Given the description of an element on the screen output the (x, y) to click on. 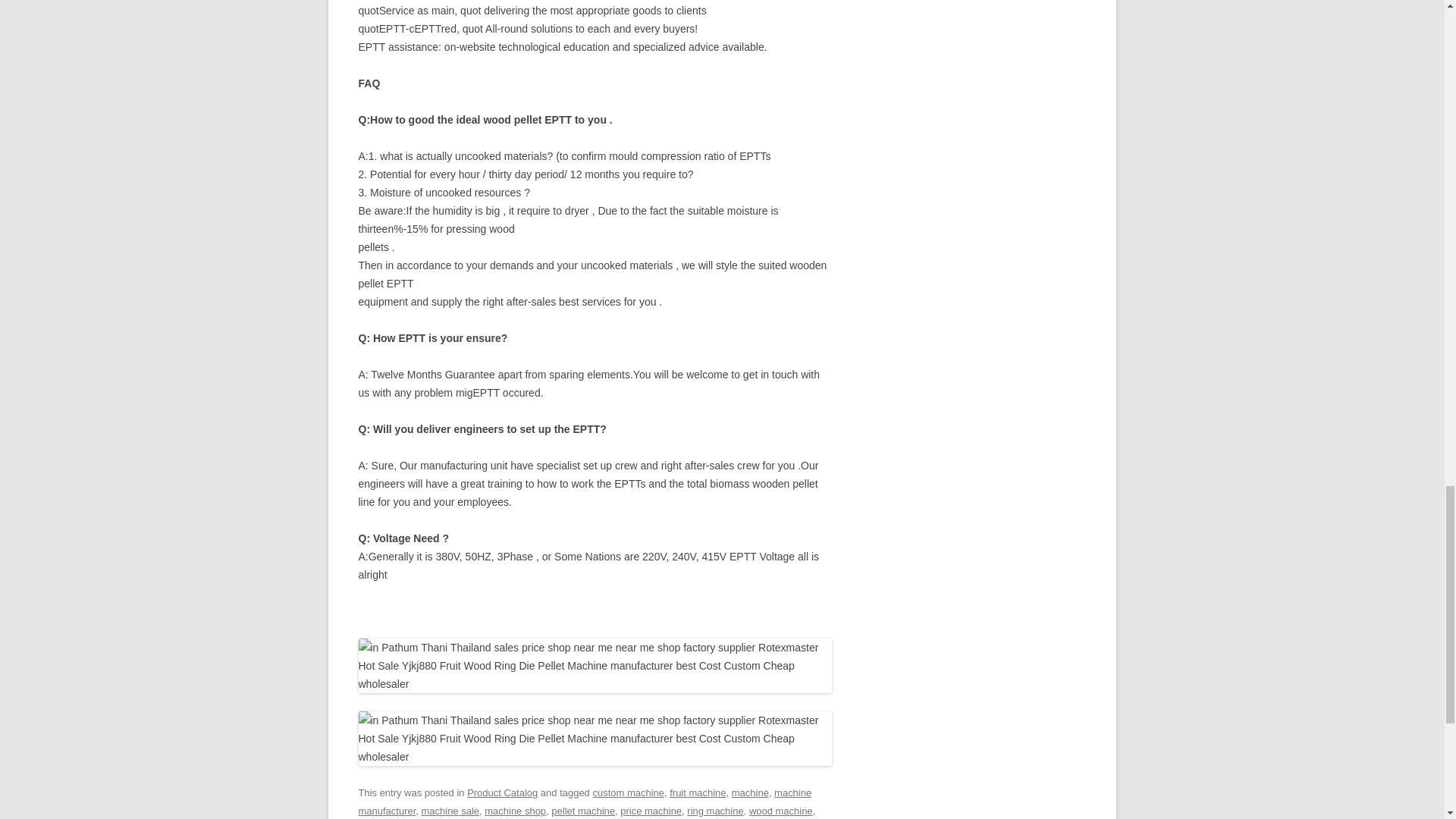
machine sale (451, 810)
machine (750, 792)
pellet machine (582, 810)
machine manufacturer (584, 801)
fruit machine (697, 792)
ring machine (714, 810)
machine shop (515, 810)
Product Catalog (502, 792)
wood machine (780, 810)
price machine (650, 810)
custom machine (627, 792)
